Given the description of an element on the screen output the (x, y) to click on. 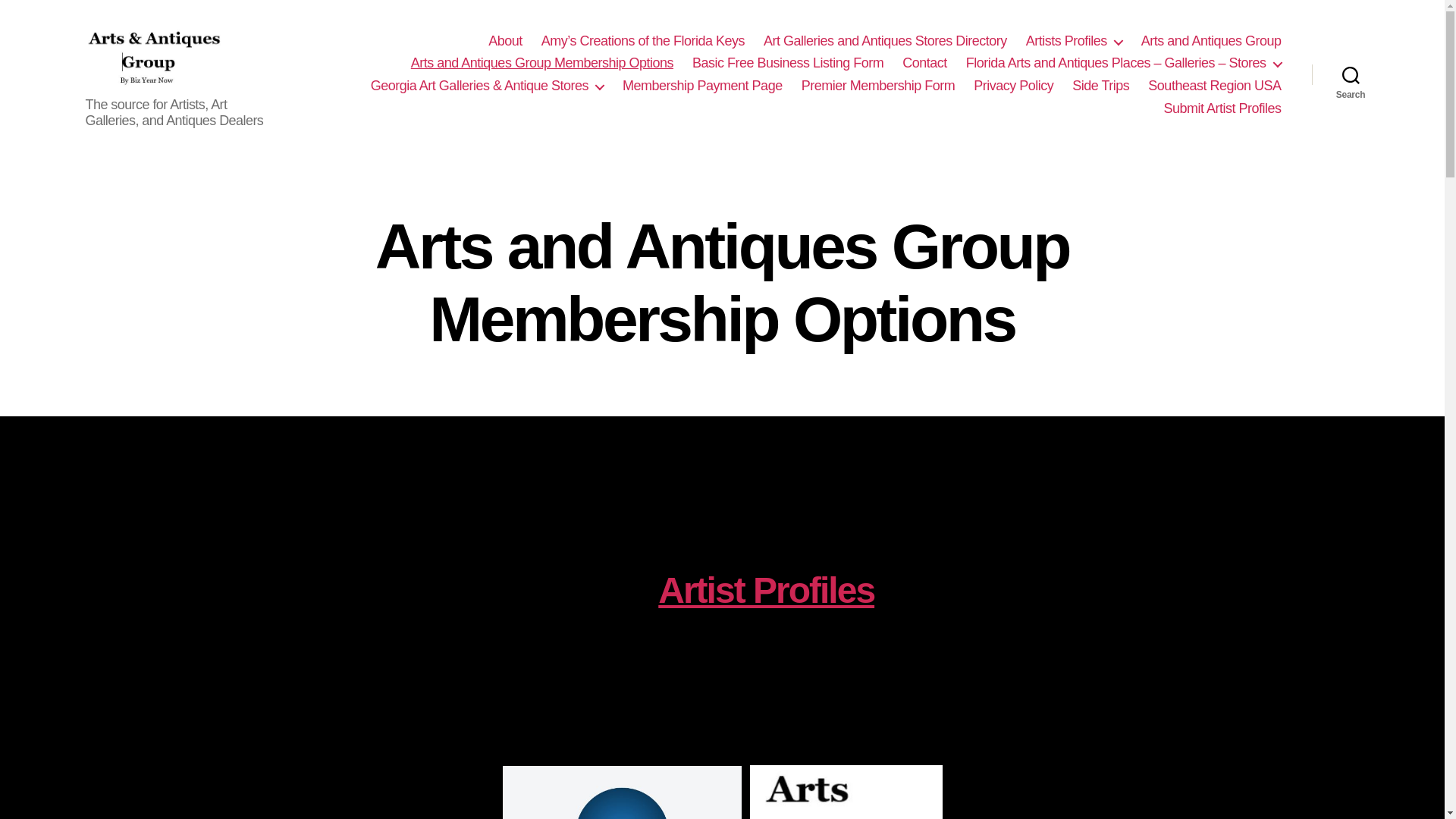
About (504, 41)
Basic Free Business Listing Form (788, 63)
Search (1350, 74)
Contact (924, 63)
Arts and Antiques Group Membership Options (541, 63)
Submit Artist Profiles (1222, 108)
Arts and Antiques Group (1211, 41)
Art Galleries and Antiques Stores Directory (884, 41)
Artists Profiles (1074, 41)
Premier Membership Form (878, 86)
Side Trips (1100, 86)
Membership Payment Page (703, 86)
Southeast Region USA (1214, 86)
Artist Profiles (766, 590)
Privacy Policy (1013, 86)
